Given the description of an element on the screen output the (x, y) to click on. 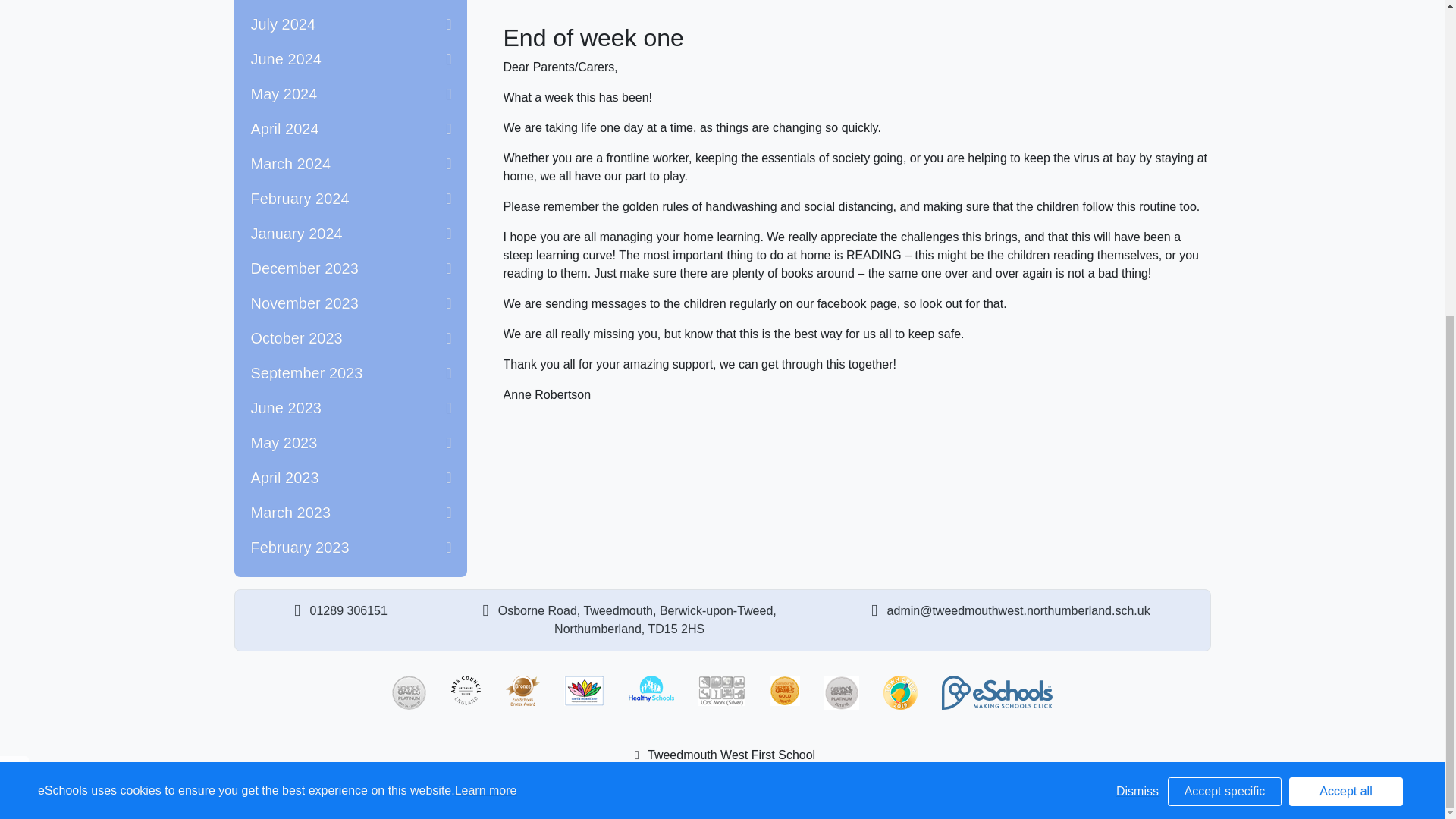
Health and Wellbeing Audit (584, 690)
Sainsbury School Games (784, 690)
School Games 2017-18 Platinum (841, 692)
LOtC Mark Silver (721, 690)
Eco-Schools Bronze Award (522, 690)
Artsmark Silver Award (465, 690)
Healthy Schools (651, 690)
